Given the description of an element on the screen output the (x, y) to click on. 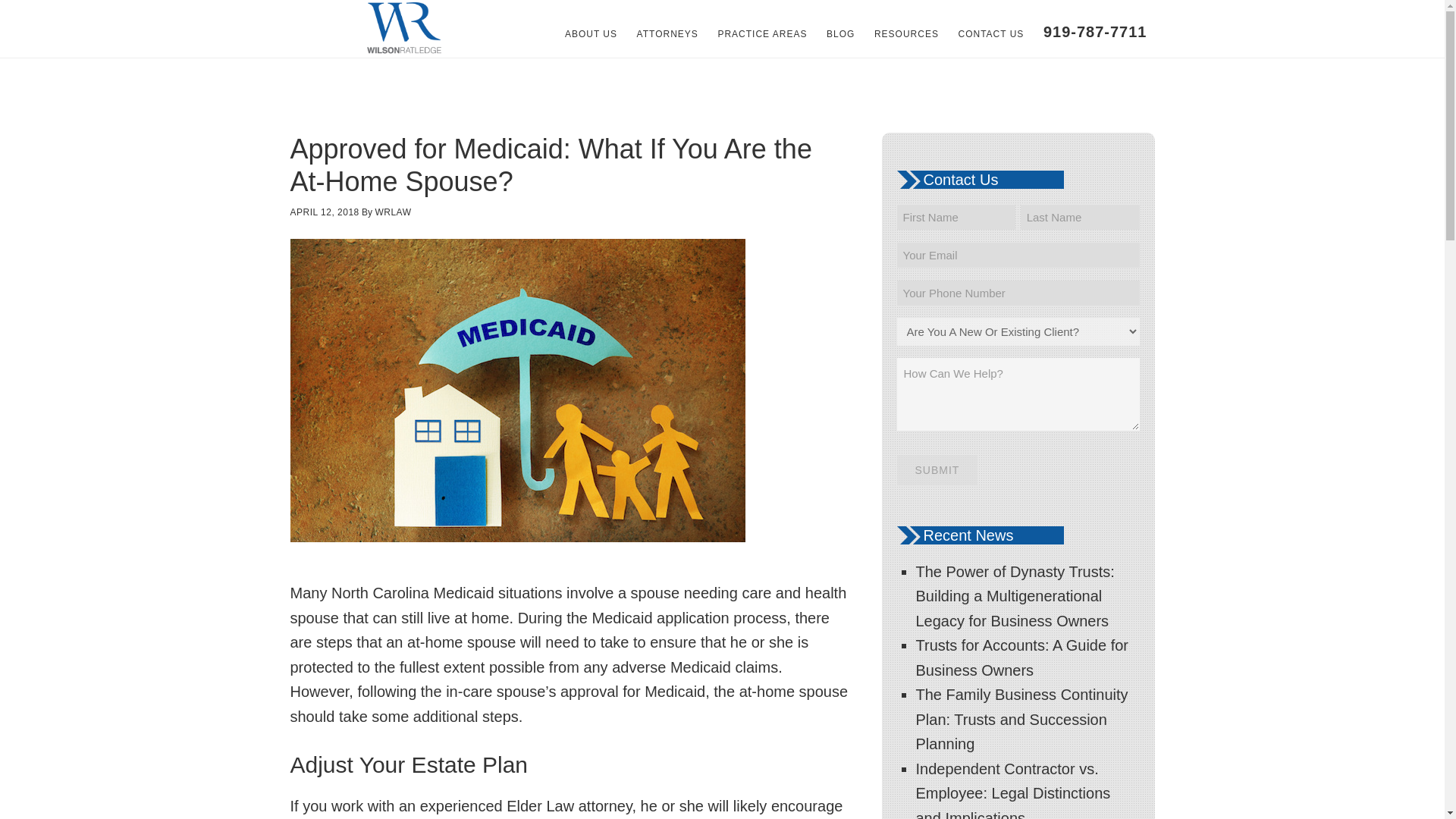
ABOUT US (590, 33)
Submit (936, 470)
ATTORNEYS (667, 33)
RALEIGH ESTATE PLANNING AND CORPORATE LAW ATTORNEYS (402, 28)
PRACTICE AREAS (761, 33)
